Given the description of an element on the screen output the (x, y) to click on. 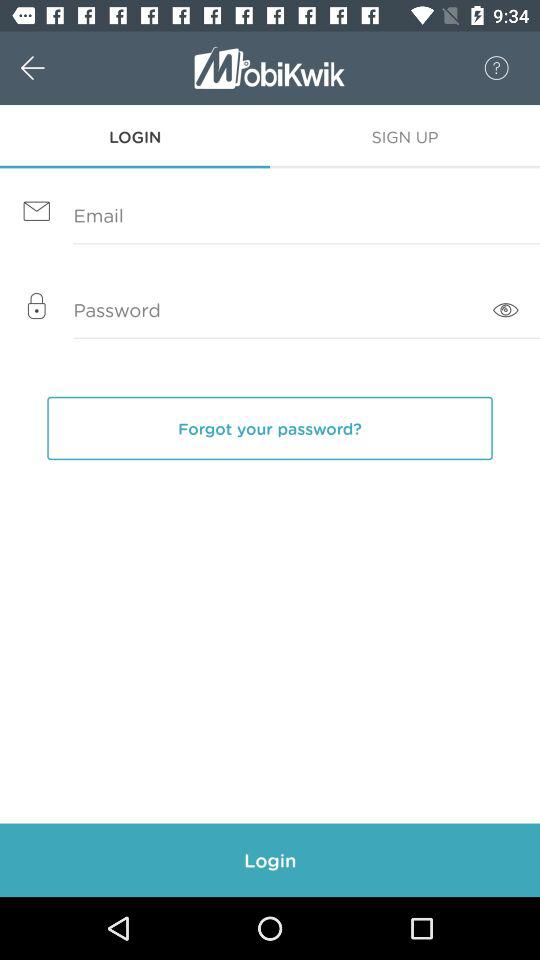
tap the item next to the y (505, 309)
